Given the description of an element on the screen output the (x, y) to click on. 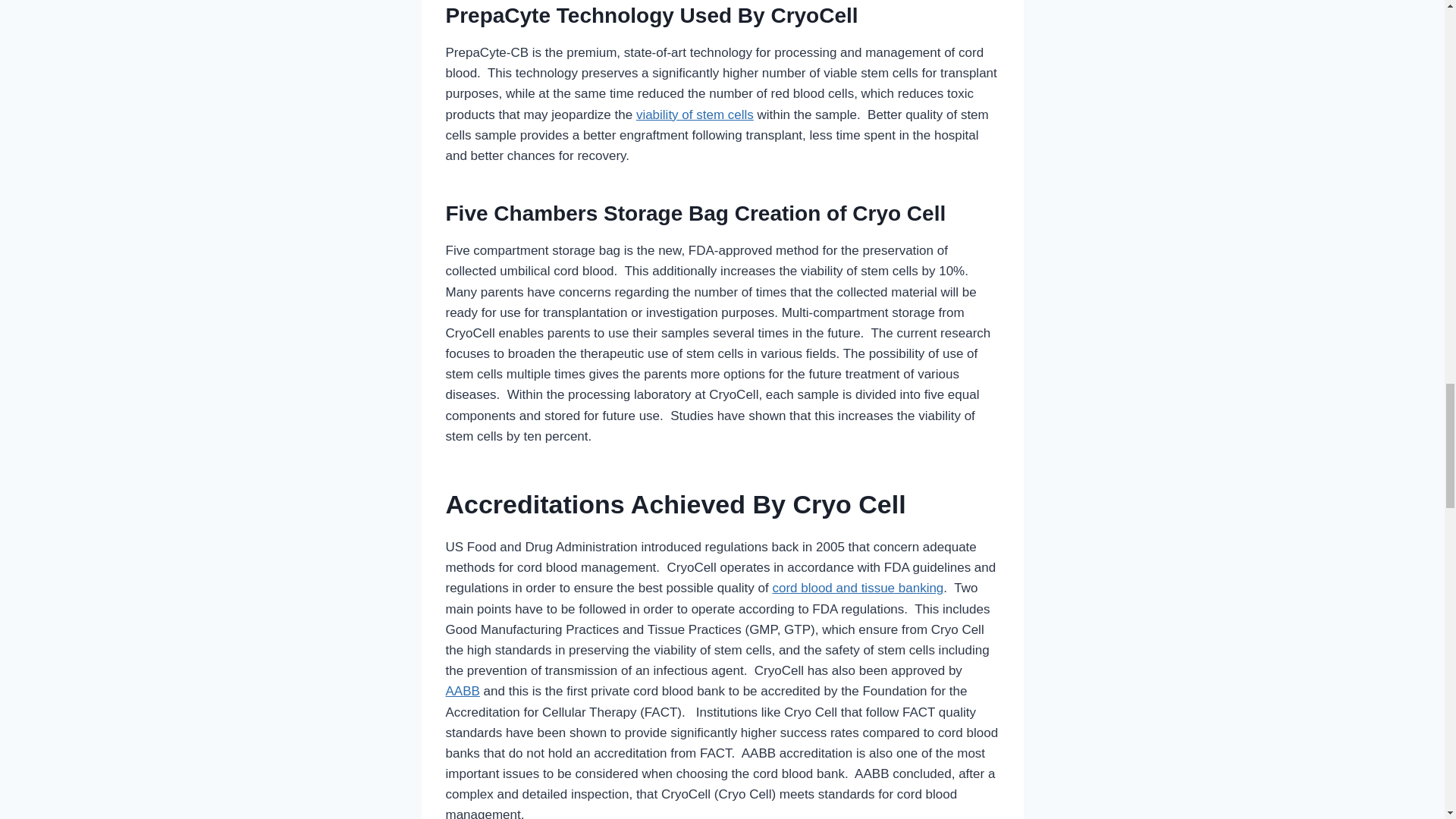
viability of stem cells (695, 114)
AABB (462, 690)
cord blood and tissue banking (857, 587)
